Given the description of an element on the screen output the (x, y) to click on. 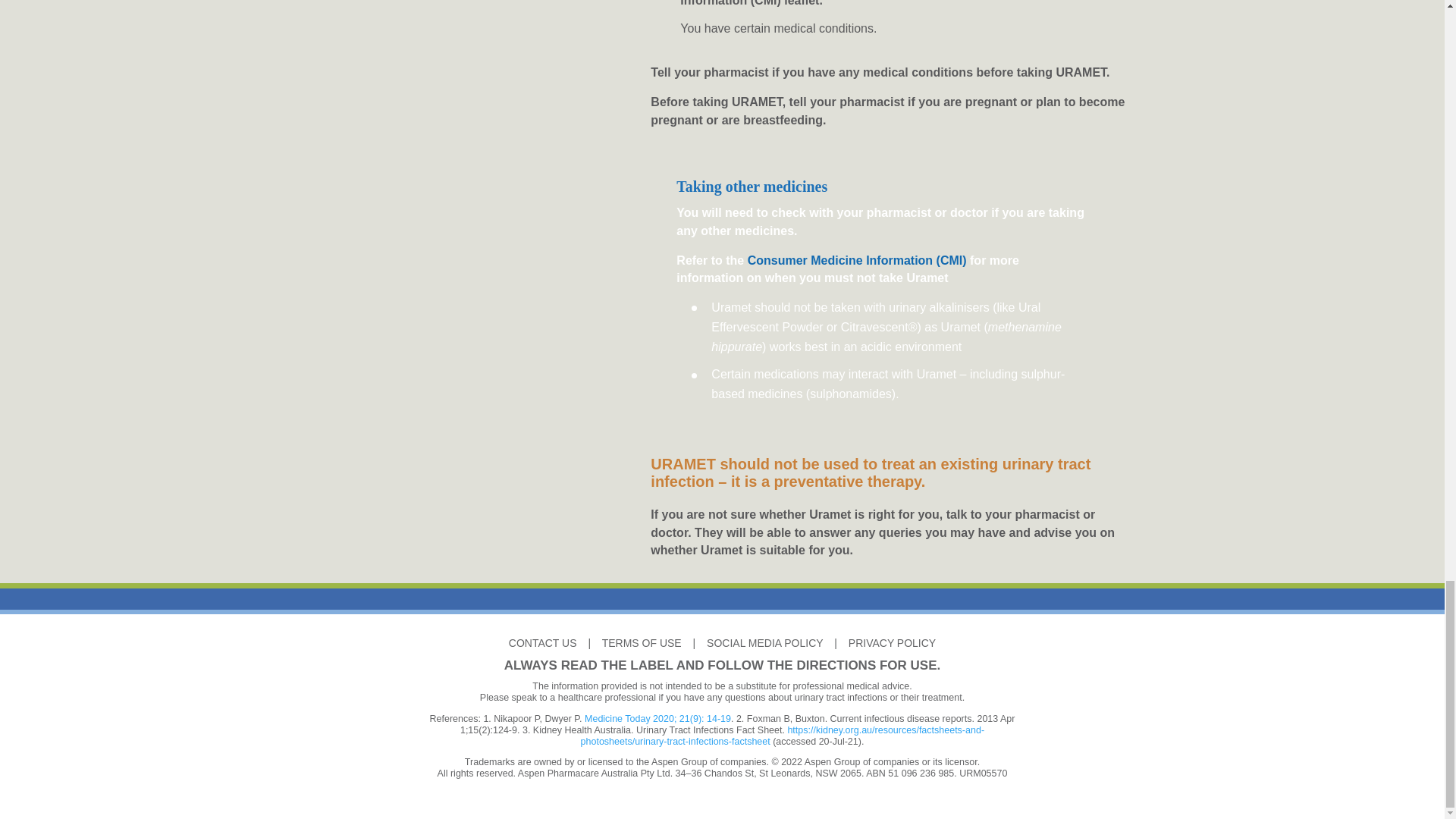
aspen logo (1108, 714)
CONTACT US (542, 643)
SOCIAL MEDIA POLICY (764, 643)
australian made logo (340, 708)
PRIVACY POLICY (892, 643)
TERMS OF USE (641, 643)
